Given the description of an element on the screen output the (x, y) to click on. 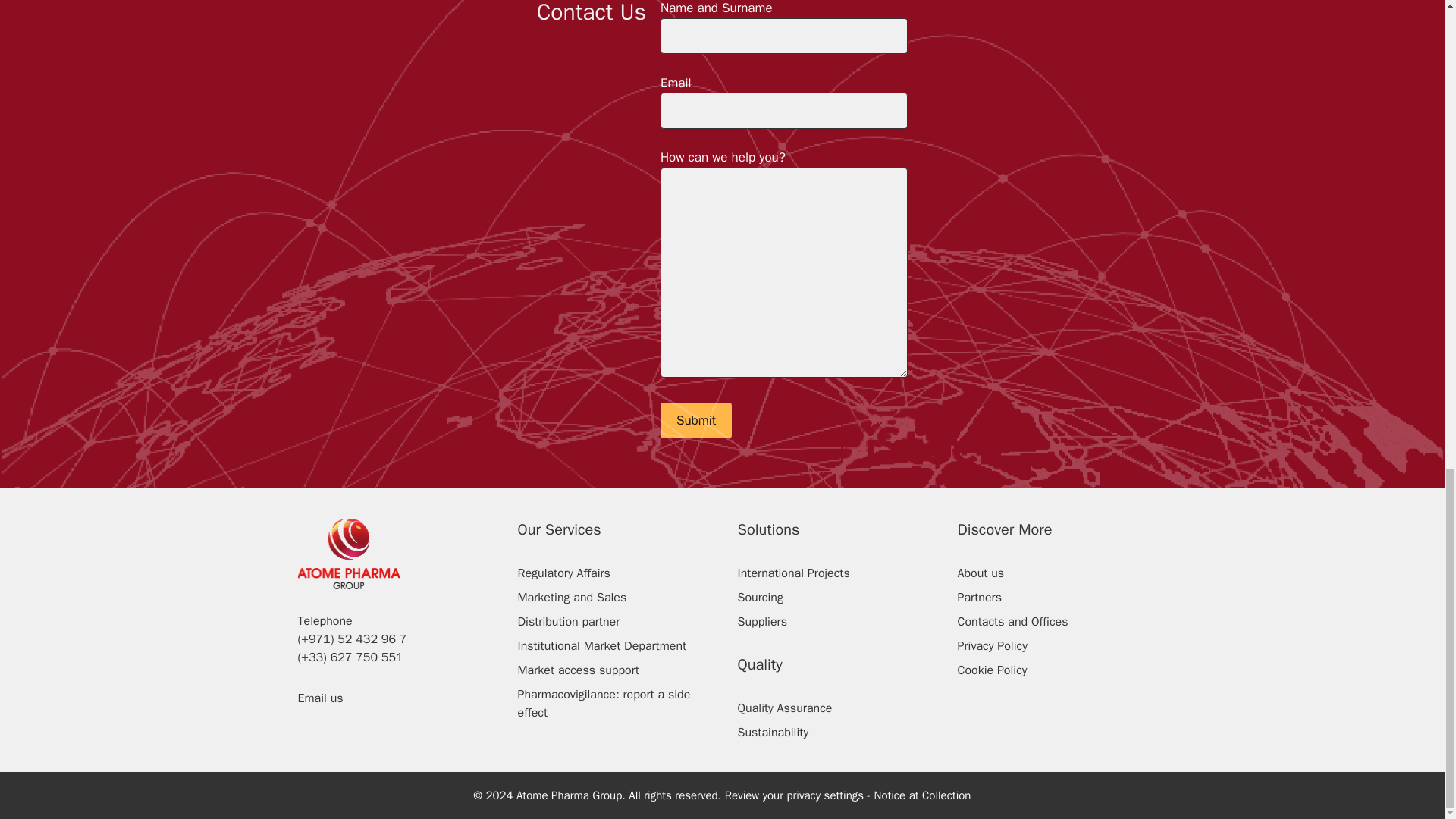
Institutional Market Department (600, 645)
Suppliers (761, 621)
Market access support (577, 670)
Submit (696, 420)
International Projects (792, 572)
Distribution partner (568, 621)
Marketing and Sales (571, 597)
Email us (319, 698)
Regulatory Affairs (563, 572)
Pharmacovigilance: report a side effect (603, 703)
